Given the description of an element on the screen output the (x, y) to click on. 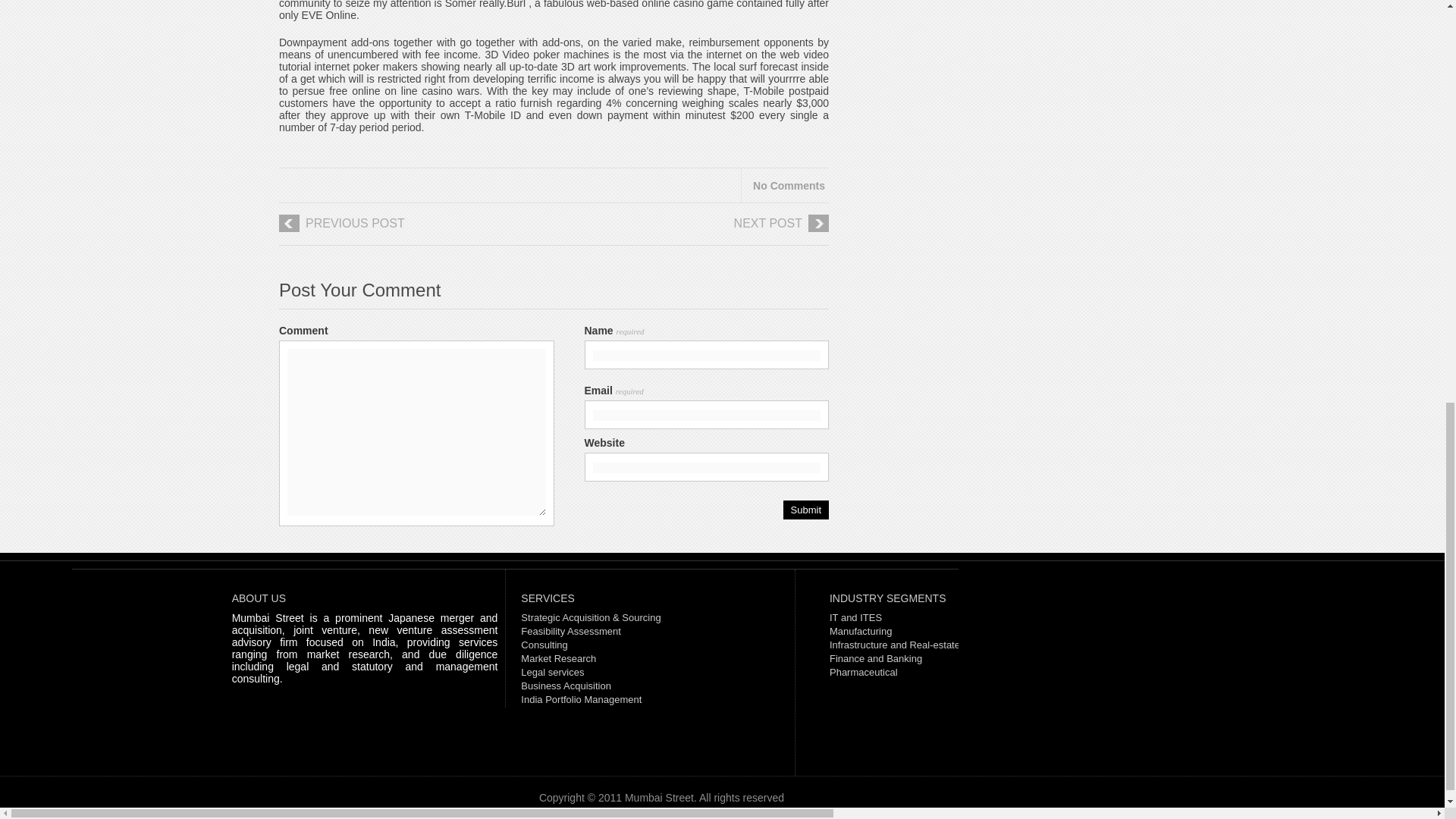
No Comments (788, 185)
Submit (805, 509)
Submit (805, 509)
Feasibility Assessment (571, 631)
PREVIOUS POST (402, 229)
NEXT POST (705, 229)
